Given the description of an element on the screen output the (x, y) to click on. 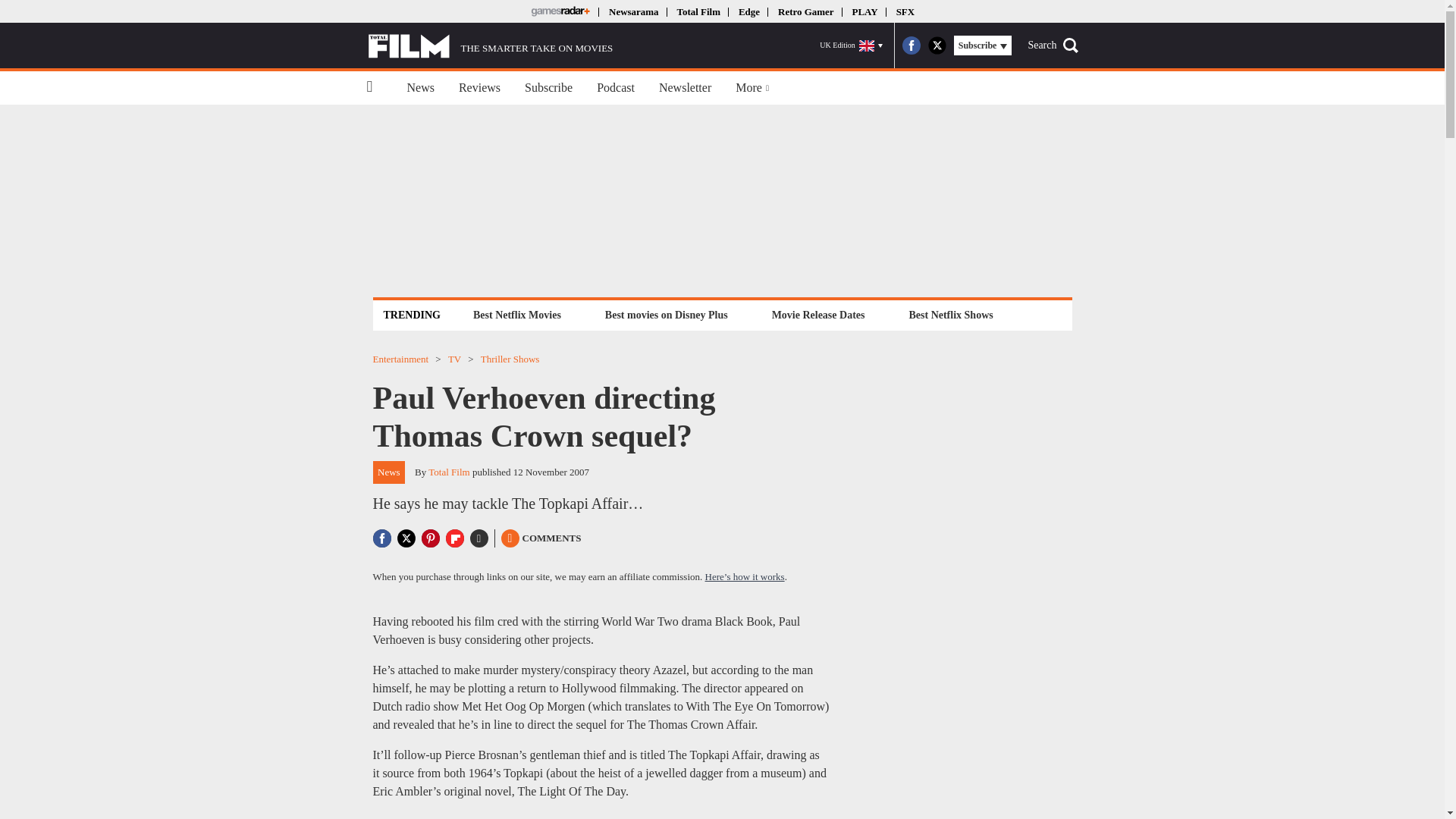
Reviews (479, 87)
THE SMARTER TAKE ON MOVIES (489, 44)
SFX (905, 11)
UK Edition (850, 45)
Movie Release Dates (818, 314)
Newsarama (633, 11)
News (419, 87)
PLAY (864, 11)
Edge (749, 11)
Retro Gamer (805, 11)
